Given the description of an element on the screen output the (x, y) to click on. 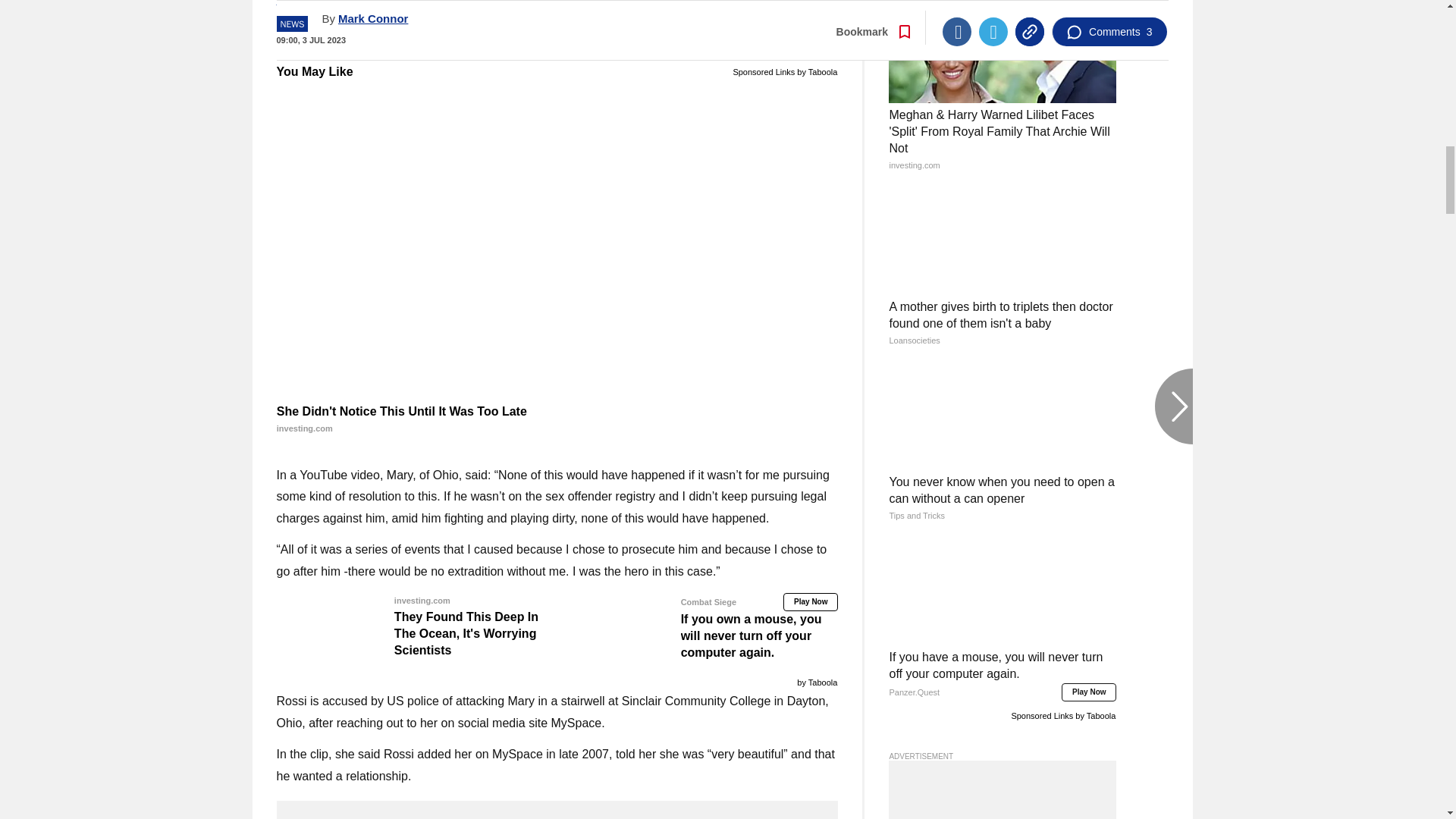
She Didn't Notice This Until It Was Too Late (557, 419)
